Given the description of an element on the screen output the (x, y) to click on. 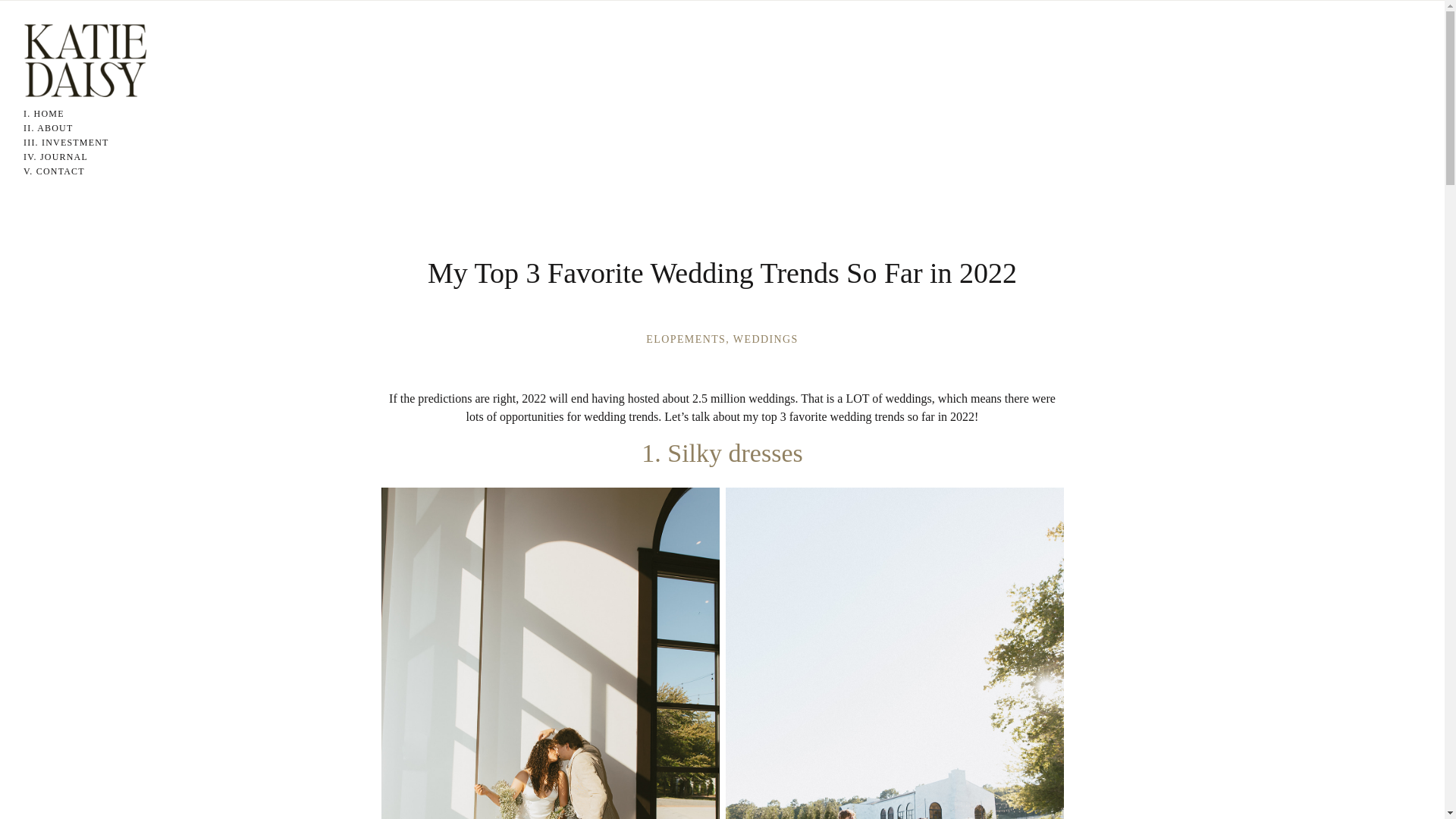
ELOPEMENTS (685, 338)
III. INVESTMENT (66, 142)
WEDDINGS (765, 338)
IV. JOURNAL (66, 156)
I. HOME (66, 113)
II. ABOUT (66, 127)
V. CONTACT (66, 170)
